Given the description of an element on the screen output the (x, y) to click on. 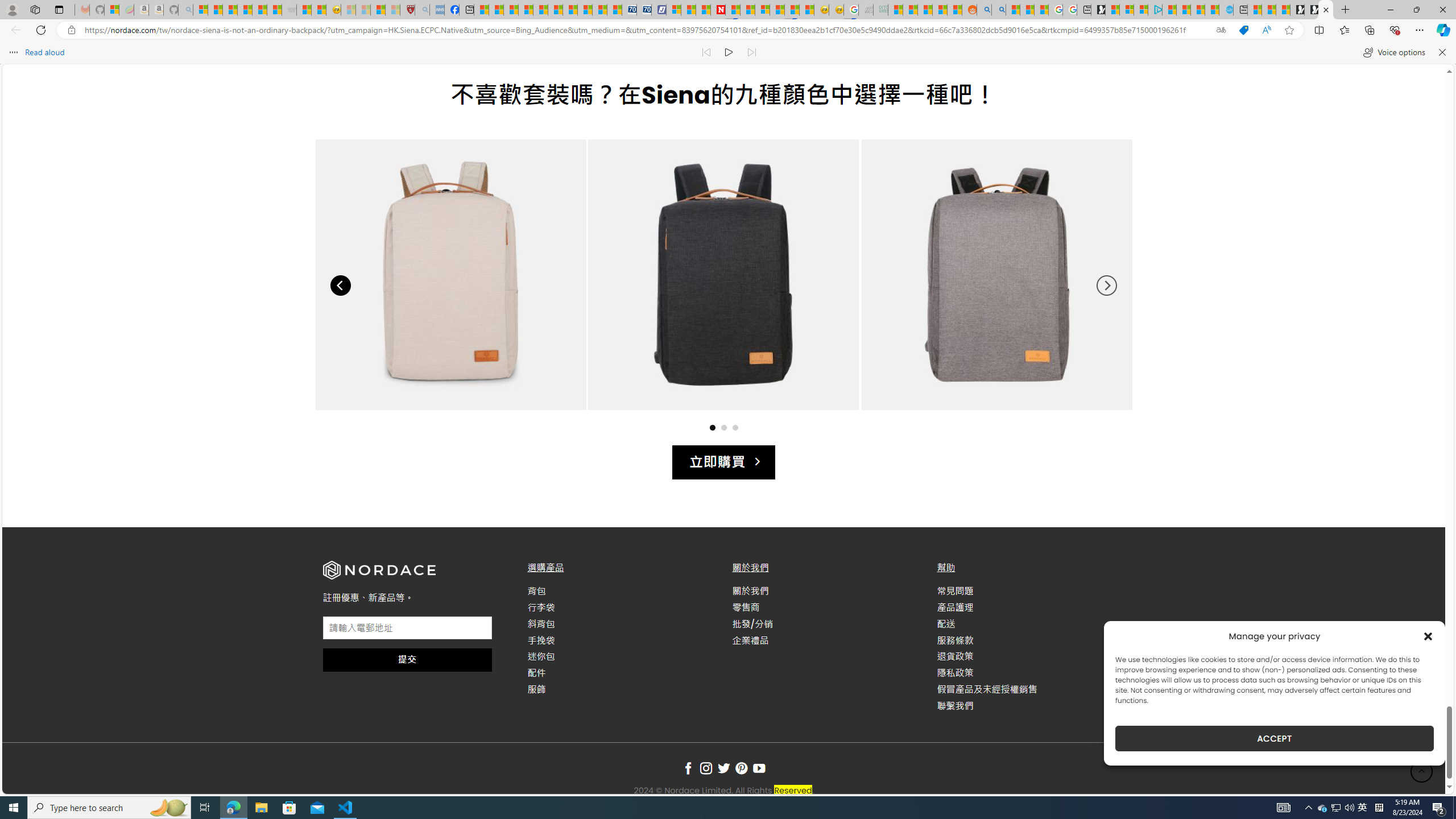
Favorites (1344, 29)
Split screen (1318, 29)
Close read aloud (1441, 52)
12 Popular Science Lies that Must be Corrected - Sleeping (392, 9)
Page dot 1 (711, 427)
Close tab (1325, 9)
